Given the description of an element on the screen output the (x, y) to click on. 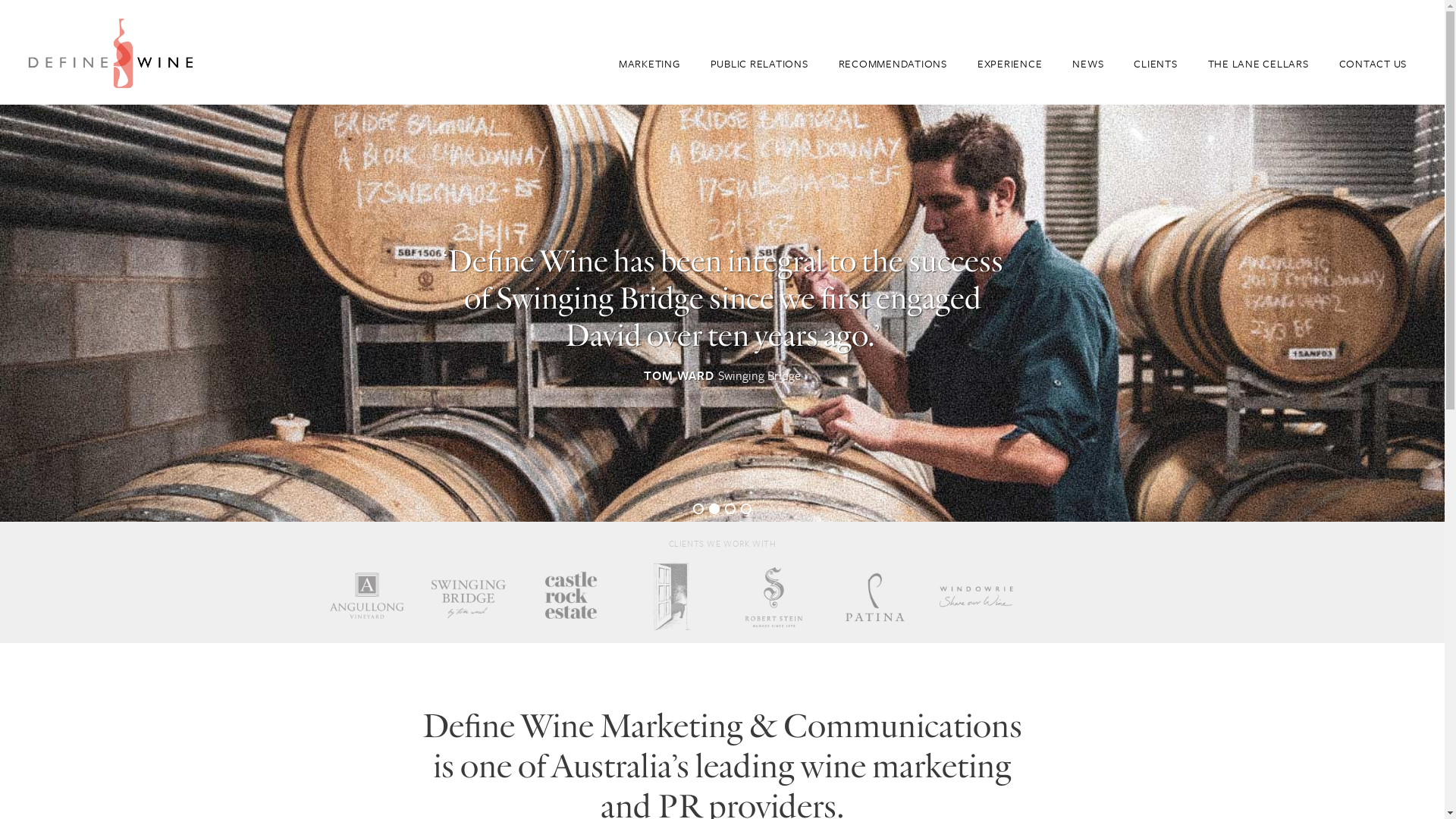
PUBLIC RELATIONS Element type: text (758, 63)
THE LANE CELLARS Element type: text (1257, 63)
Define Wine Element type: hover (109, 52)
CONTACT US Element type: text (1373, 63)
MARKETING Element type: text (649, 63)
EXPERIENCE Element type: text (1009, 63)
RECOMMENDATIONS Element type: text (892, 63)
CLIENTS Element type: text (1155, 63)
NEWS Element type: text (1087, 63)
Define Wine Element type: hover (109, 50)
